Given the description of an element on the screen output the (x, y) to click on. 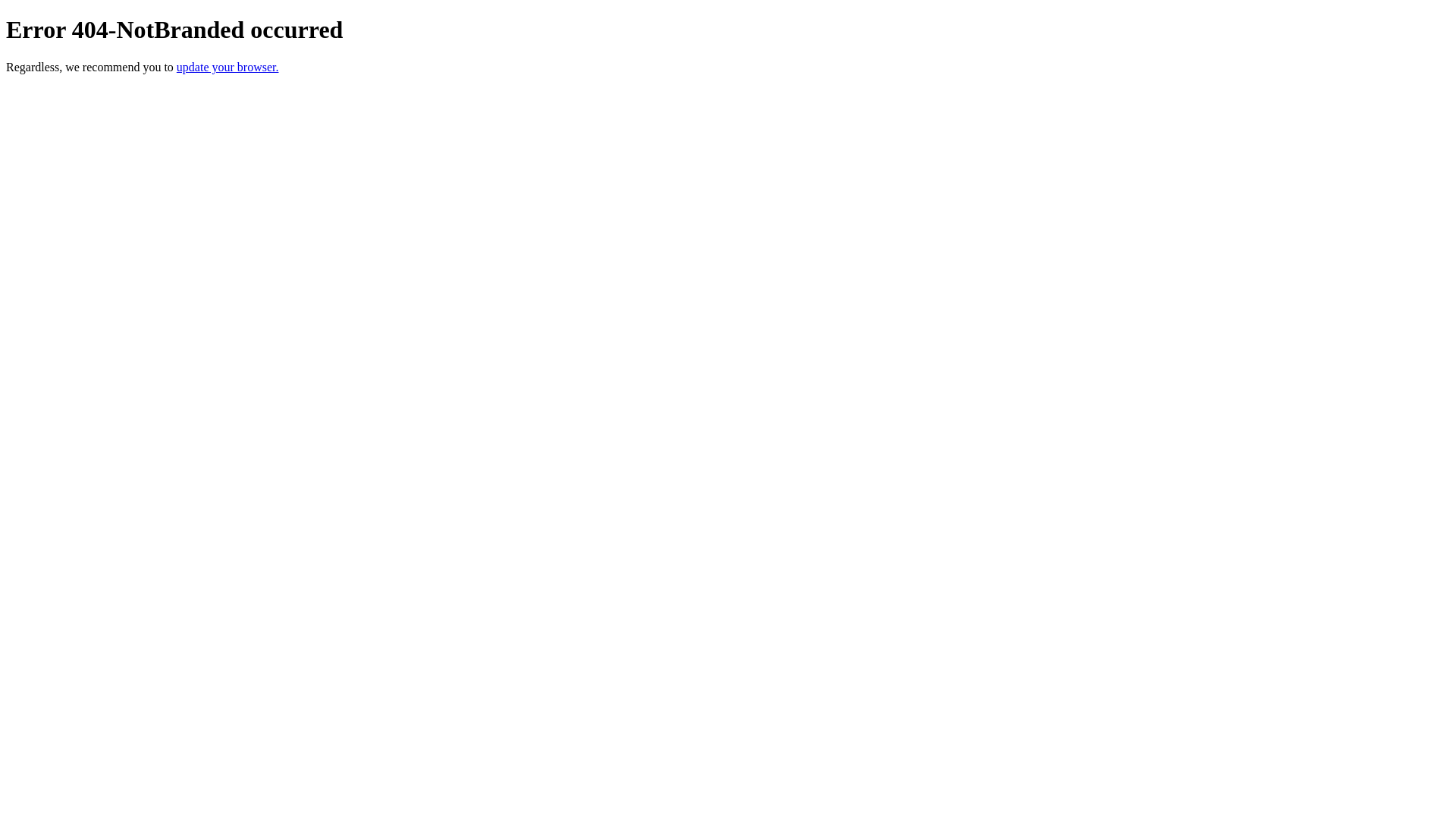
update your browser. Element type: text (227, 66)
